Given the description of an element on the screen output the (x, y) to click on. 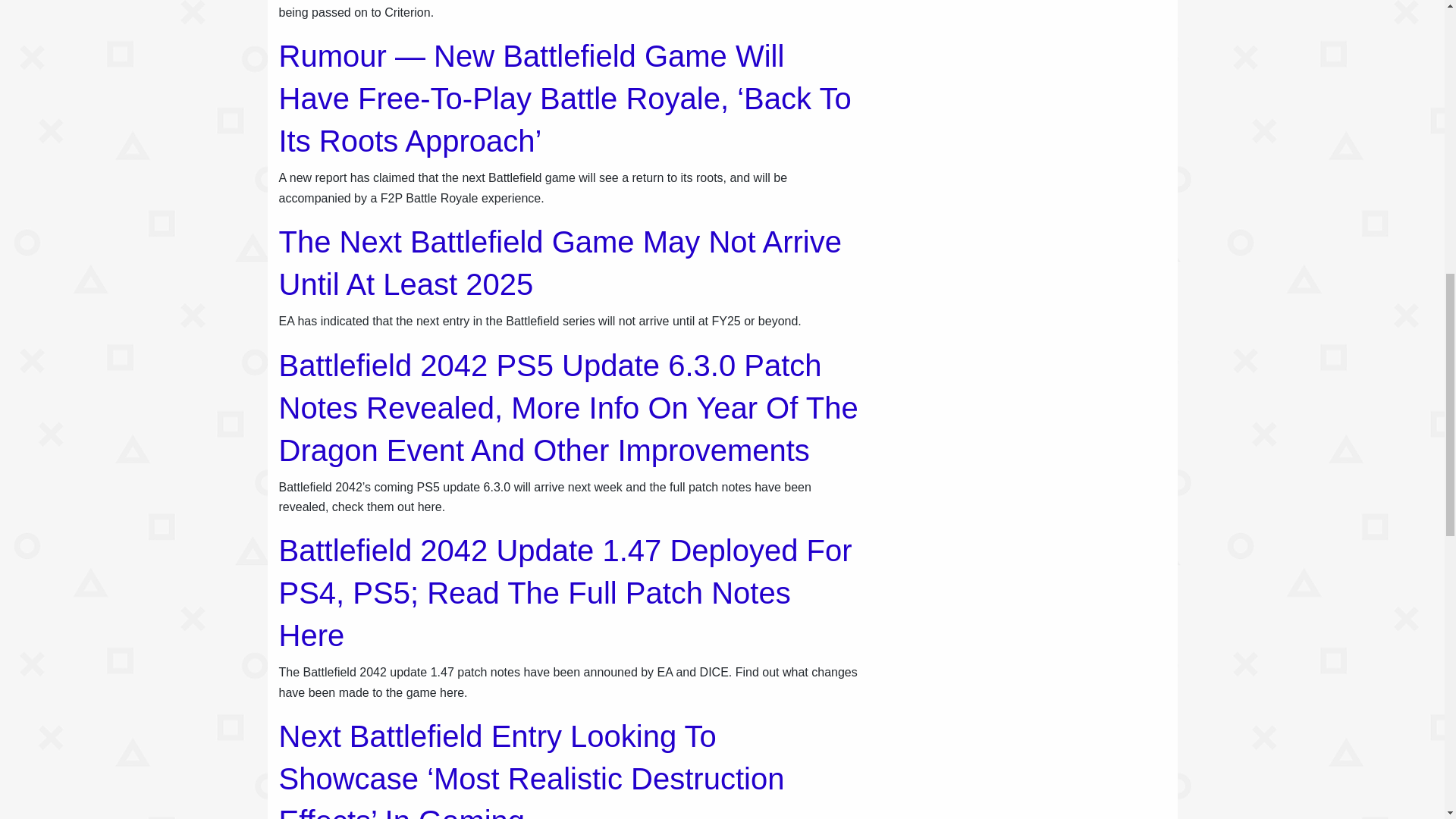
The Next Battlefield Game May Not Arrive Until At Least 2025 (561, 263)
